Given the description of an element on the screen output the (x, y) to click on. 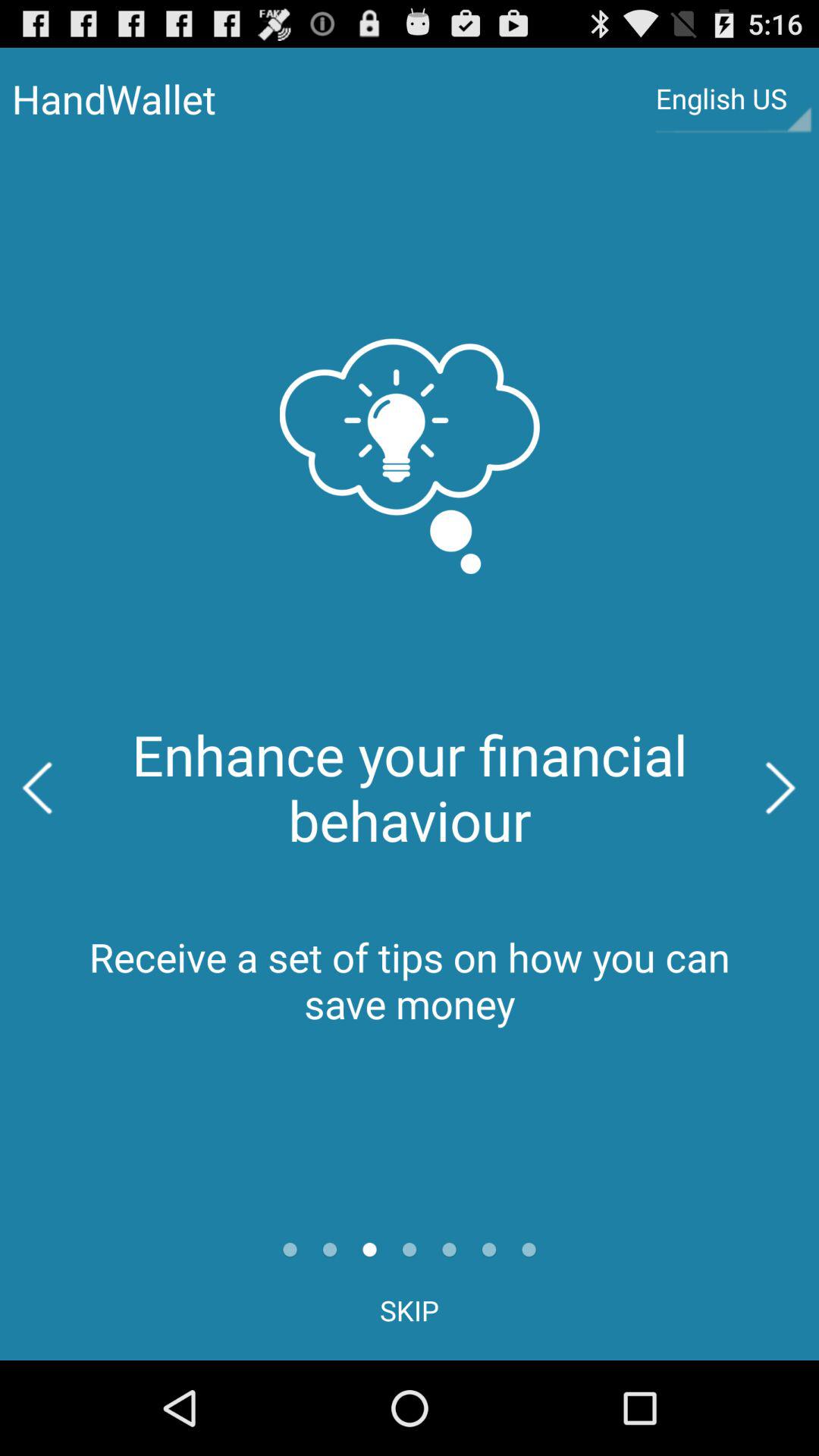
flip until skip button (409, 1310)
